Given the description of an element on the screen output the (x, y) to click on. 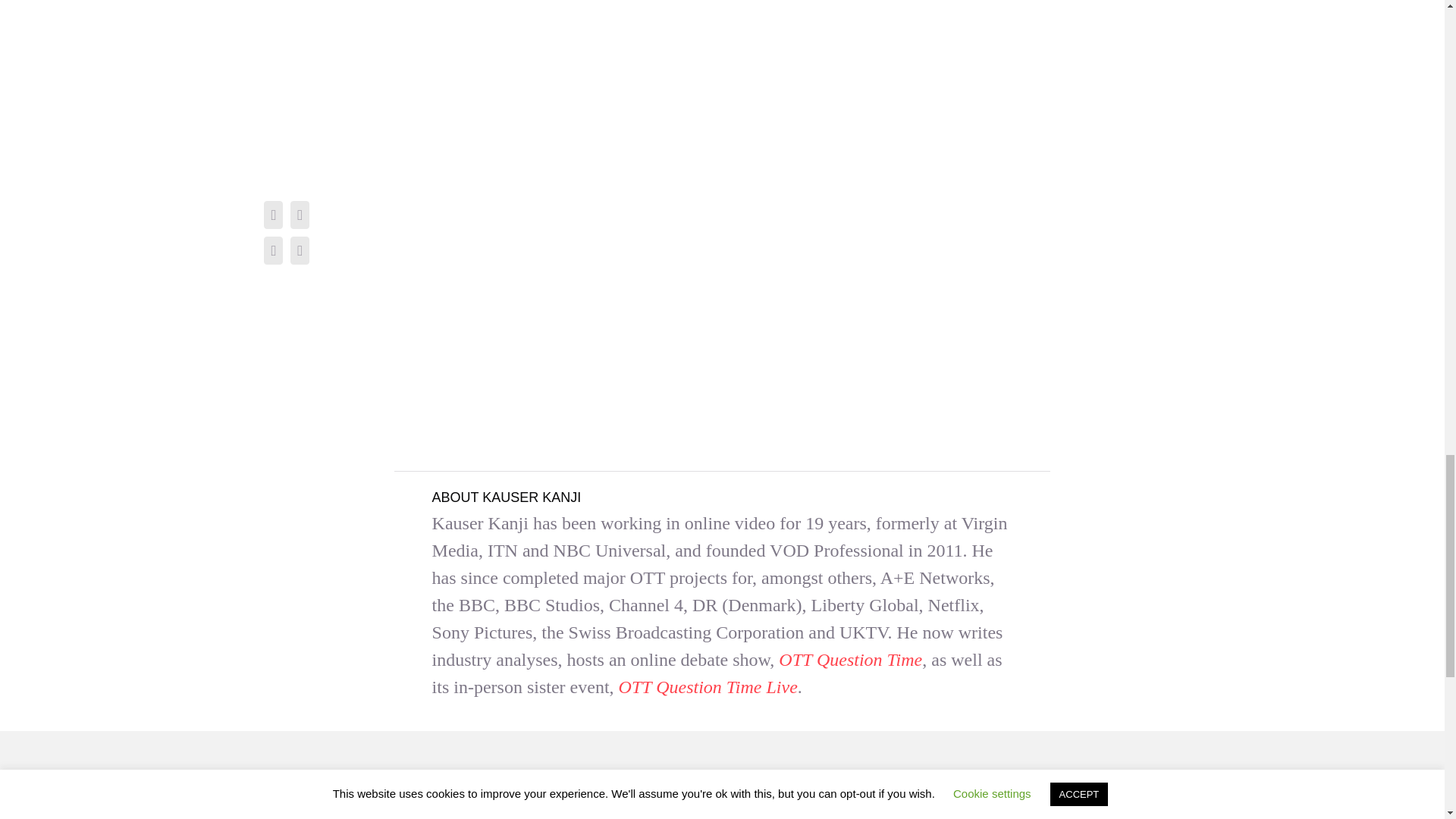
OTT Question Time (849, 659)
OTT Question Time Live (707, 686)
